Given the description of an element on the screen output the (x, y) to click on. 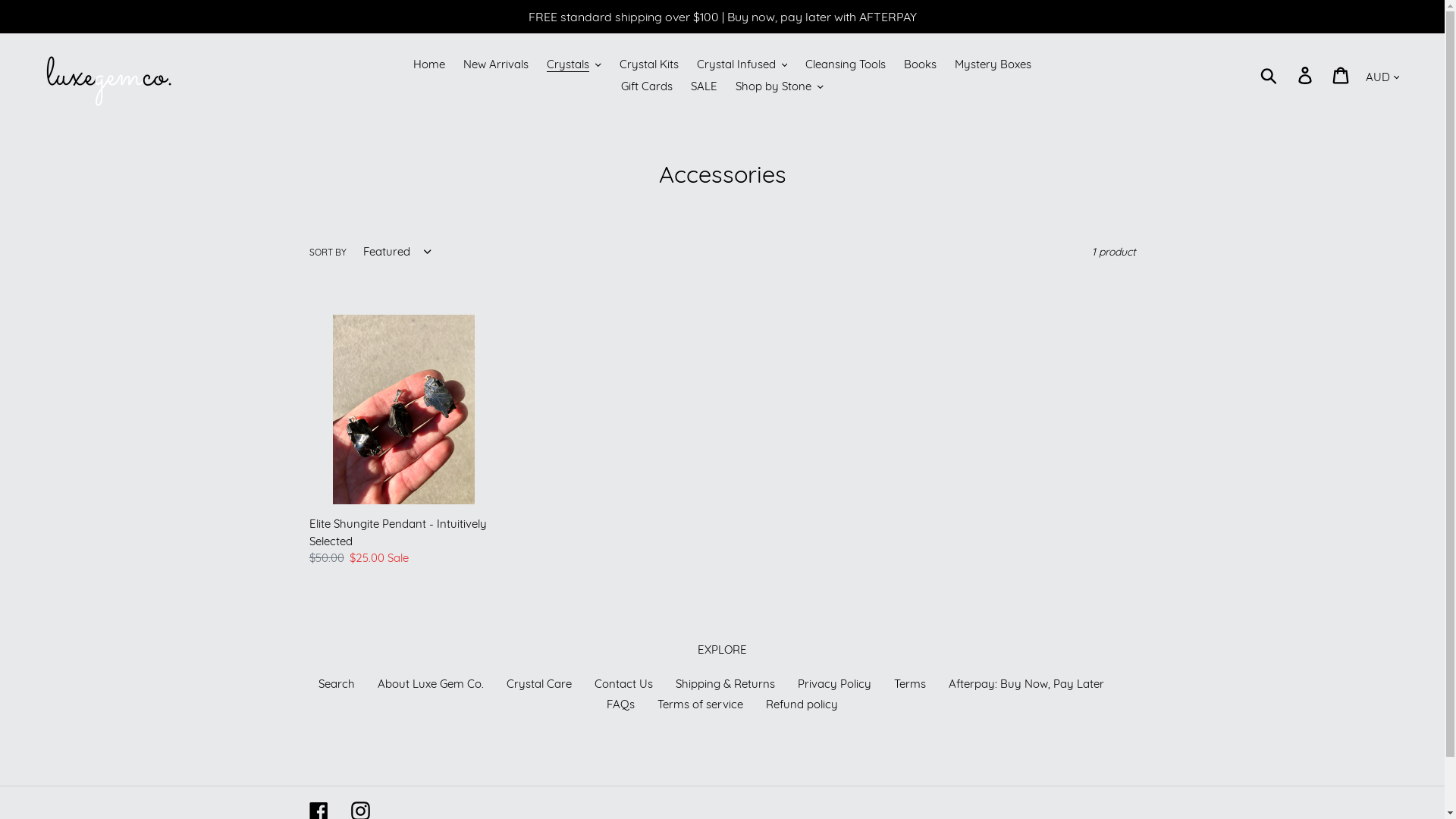
Log in Element type: text (1306, 75)
Afterpay: Buy Now, Pay Later Element type: text (1025, 683)
Gift Cards Element type: text (646, 86)
Privacy Policy Element type: text (834, 683)
Elite Shungite Pendant - Intuitively Selected Element type: text (403, 440)
Mystery Boxes Element type: text (992, 64)
Shipping & Returns Element type: text (724, 683)
Cart Element type: text (1341, 75)
Crystal Kits Element type: text (648, 64)
FAQs Element type: text (620, 703)
Refund policy Element type: text (801, 703)
About Luxe Gem Co. Element type: text (430, 683)
Terms Element type: text (909, 683)
Submit Element type: text (1269, 75)
Home Element type: text (428, 64)
Contact Us Element type: text (623, 683)
Terms of service Element type: text (700, 703)
SALE Element type: text (703, 86)
Books Element type: text (920, 64)
Search Element type: text (336, 683)
Crystal Care Element type: text (538, 683)
New Arrivals Element type: text (495, 64)
Cleansing Tools Element type: text (845, 64)
